Given the description of an element on the screen output the (x, y) to click on. 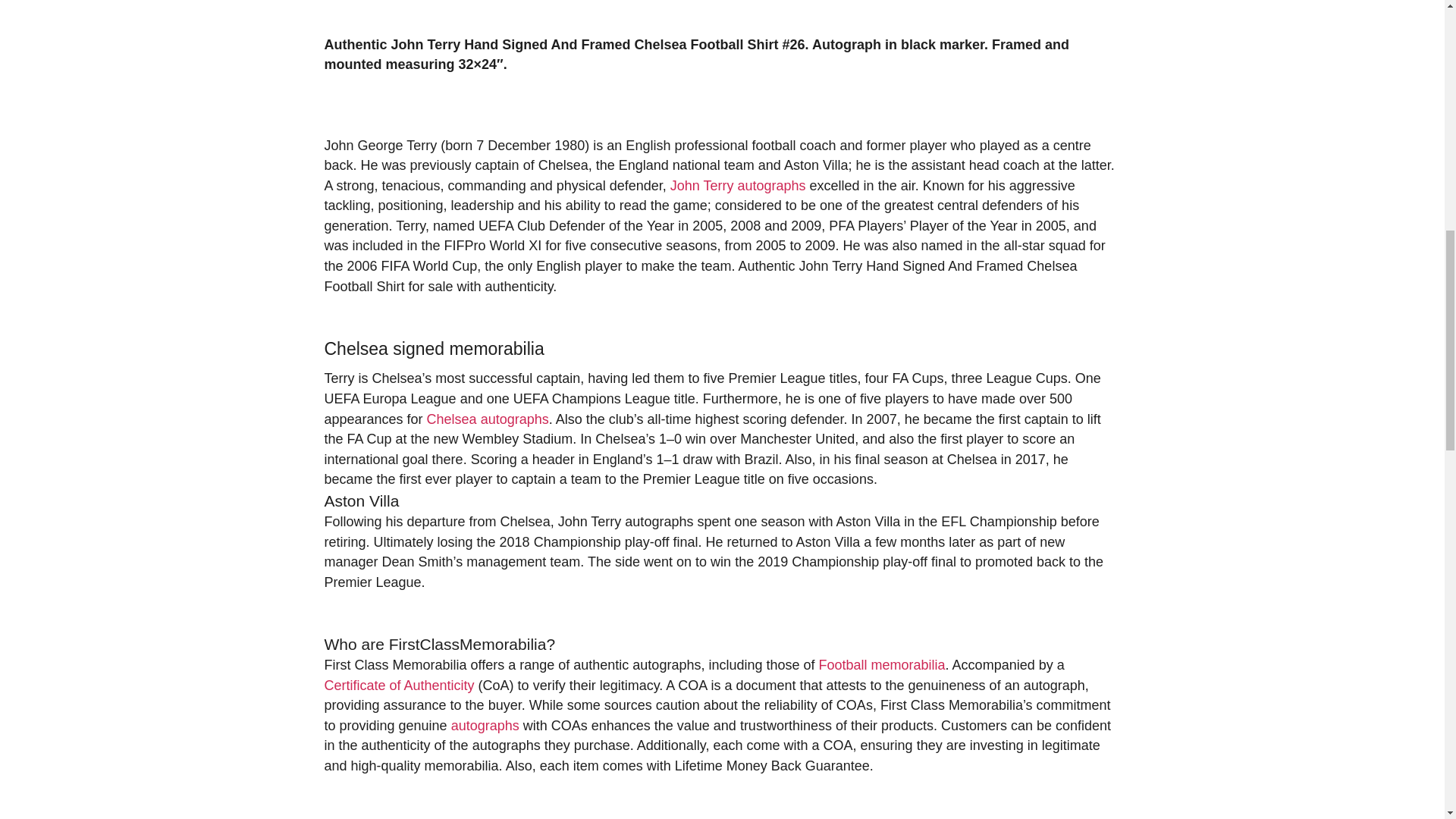
Chelsea autographs (487, 418)
Certificate of Authenticity (399, 685)
Football memorabilia (881, 664)
autographs (485, 725)
John Terry autographs (737, 185)
